Given the description of an element on the screen output the (x, y) to click on. 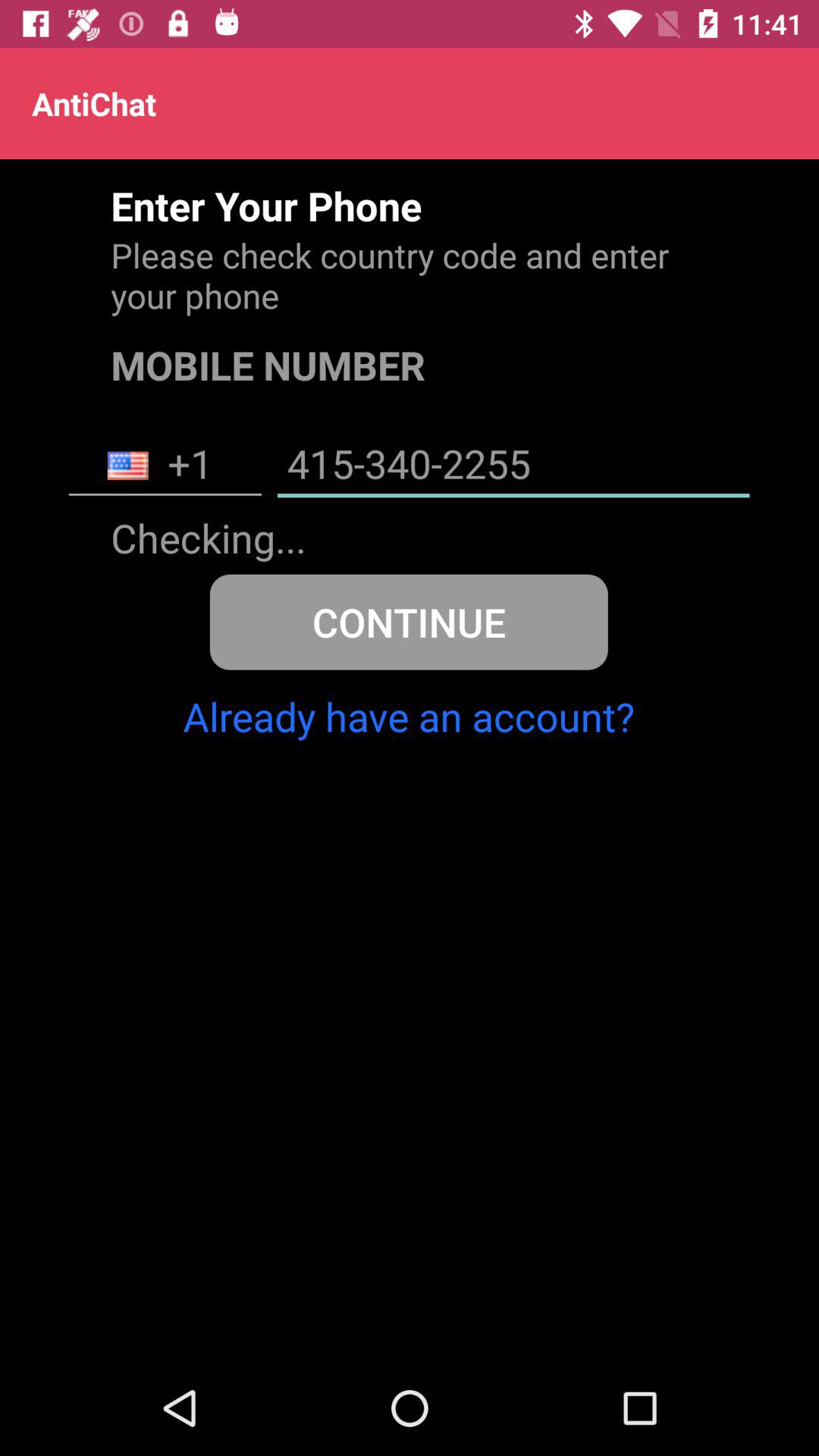
scroll until 415-340-2255 (513, 466)
